Given the description of an element on the screen output the (x, y) to click on. 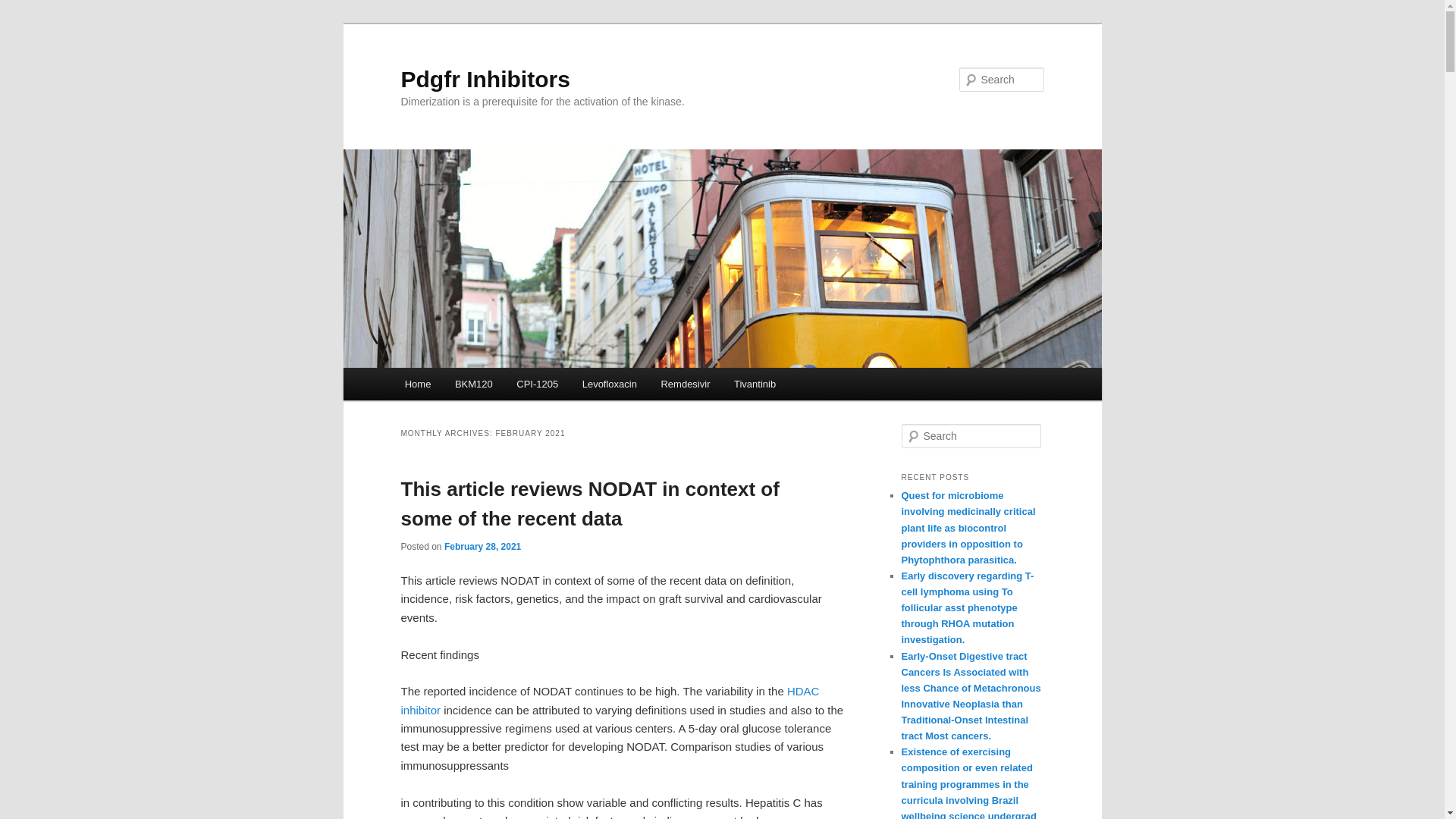
Search (24, 8)
Skip to secondary content (479, 386)
HDAC inhibitor (609, 699)
Skip to primary content (472, 386)
Home (417, 383)
Pdgfr Inhibitors (484, 78)
Levofloxacin (609, 383)
Remdesivir (685, 383)
February 28, 2021 (482, 546)
6:07 am (482, 546)
CPI-1205 (537, 383)
Skip to primary content (472, 386)
Pdgfr Inhibitors (484, 78)
Home (417, 383)
